Given the description of an element on the screen output the (x, y) to click on. 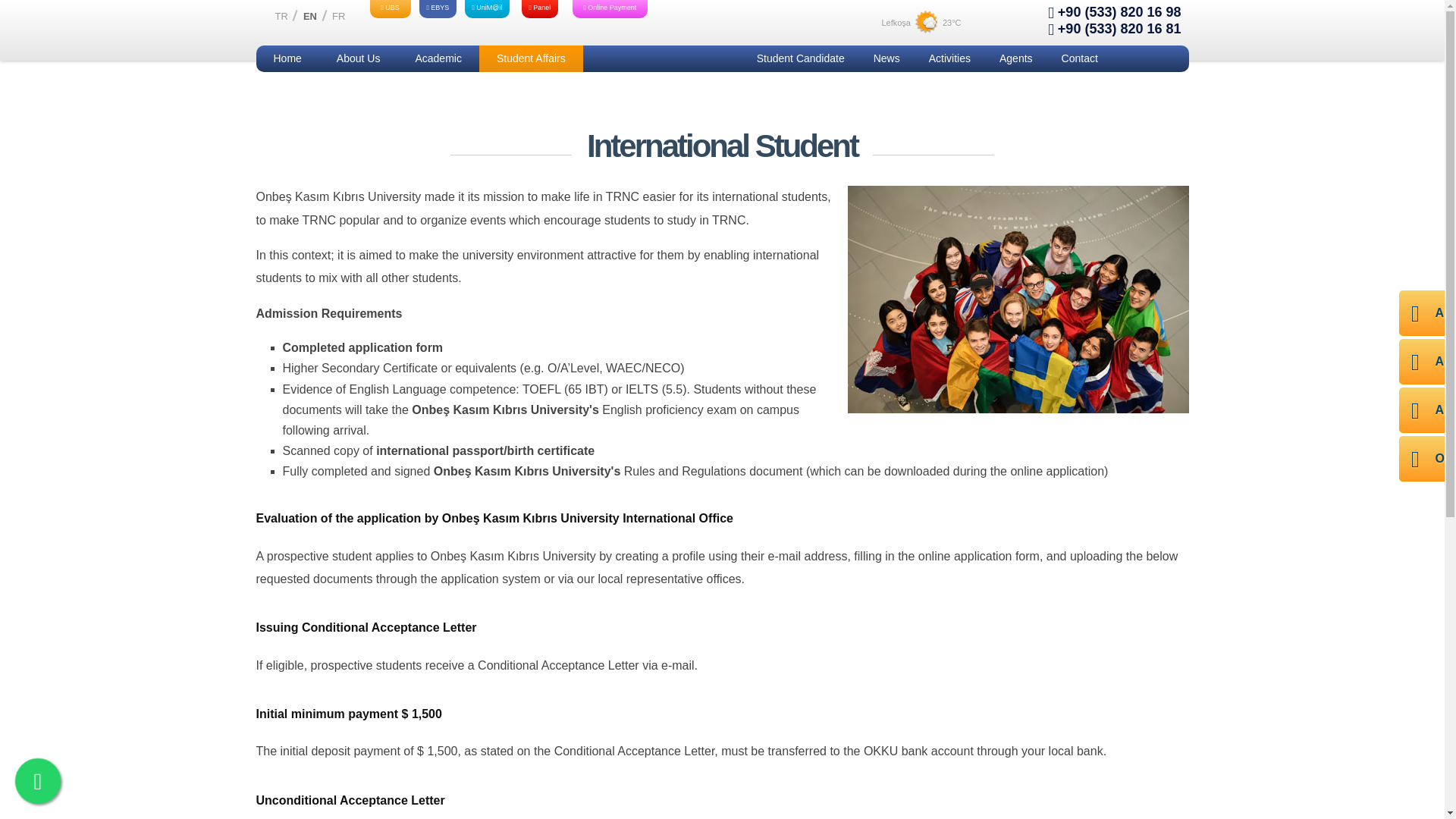
University Information Systems (389, 9)
About Us (357, 58)
Home (287, 58)
Webmail (486, 9)
Academic (438, 58)
Dashboard (540, 9)
Online Payment (609, 9)
